Given the description of an element on the screen output the (x, y) to click on. 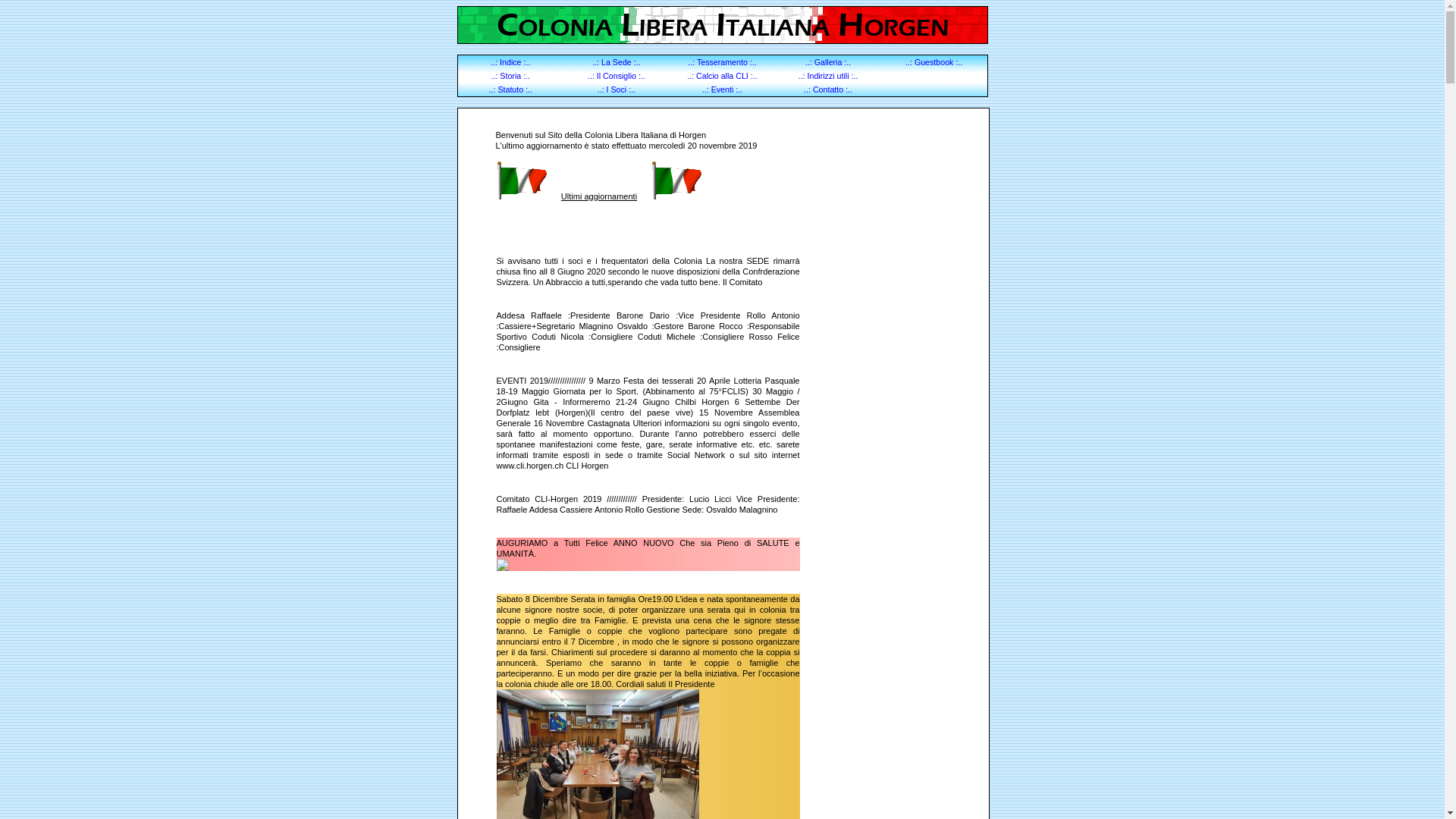
..: Guestbook :.. Element type: text (933, 61)
..: I Soci :.. Element type: text (616, 89)
..: Calcio alla CLI :.. Element type: text (721, 75)
..: Contatto :.. Element type: text (827, 89)
..: Indice :.. Element type: text (510, 61)
..: Storia :.. Element type: text (510, 75)
..: Eventi :.. Element type: text (722, 89)
..: Indirizzi utili :.. Element type: text (828, 75)
..: Tesseramento :.. Element type: text (721, 61)
..: La Sede :.. Element type: text (616, 61)
..: Il Consiglio :.. Element type: text (616, 75)
..: Statuto :.. Element type: text (510, 89)
..: Galleria :.. Element type: text (827, 61)
